Given the description of an element on the screen output the (x, y) to click on. 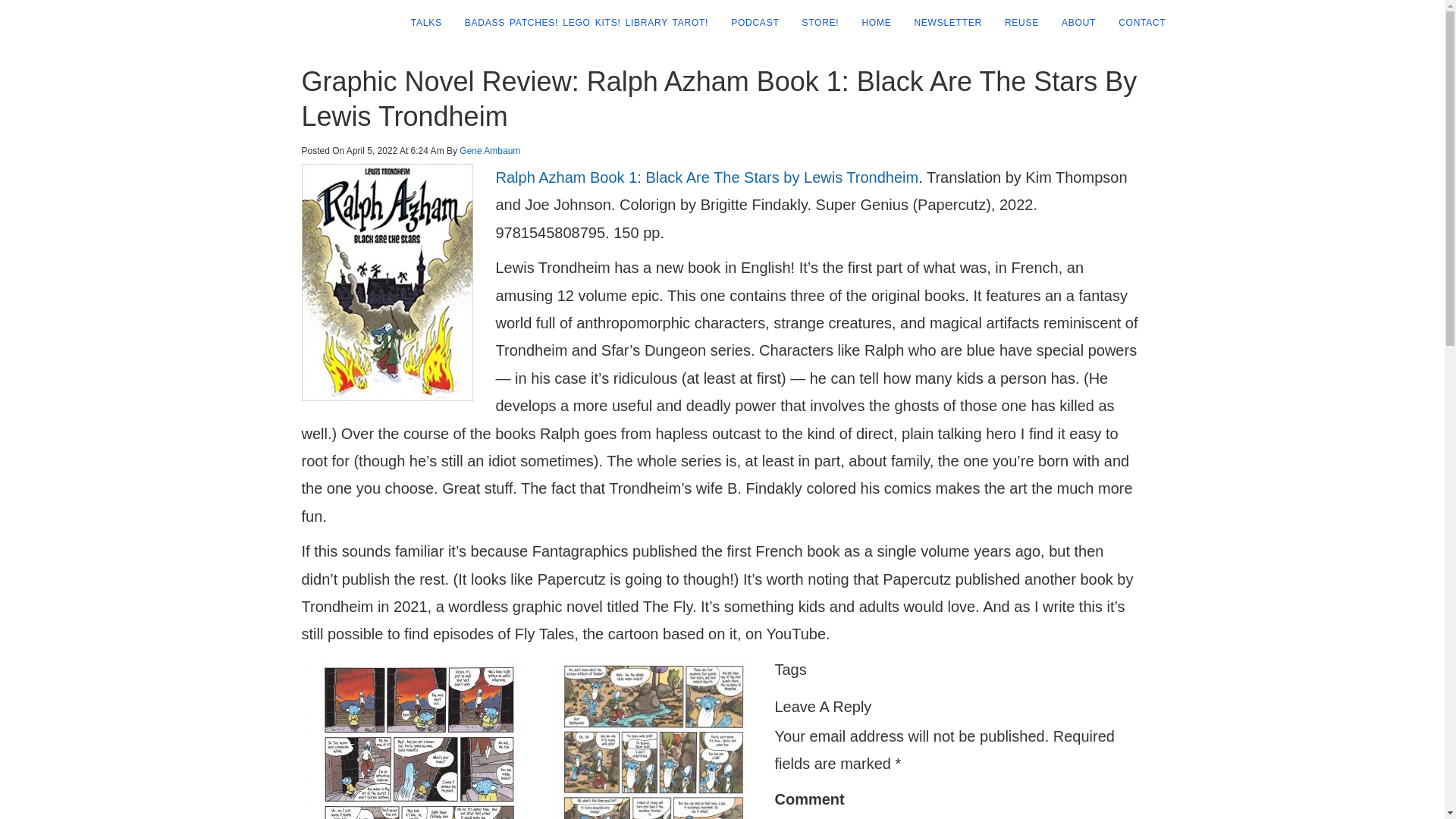
Talks (420, 22)
Home (870, 22)
About (1072, 22)
Podcast (748, 22)
Newsletter (941, 22)
STORE! (814, 22)
HOME (870, 22)
Ralph Azham Book 1: Black Are The Stars by Lewis Trondheim (707, 176)
STORE! (814, 22)
BADASS PATCHES! LEGO KITS! LIBRARY TAROT! (580, 22)
Badass patches! LEGO kits! Library Tarot! (580, 22)
Gene Ambaum (489, 150)
PODCAST (748, 22)
Posts by Gene Ambaum (489, 150)
NEWSLETTER (941, 22)
